Given the description of an element on the screen output the (x, y) to click on. 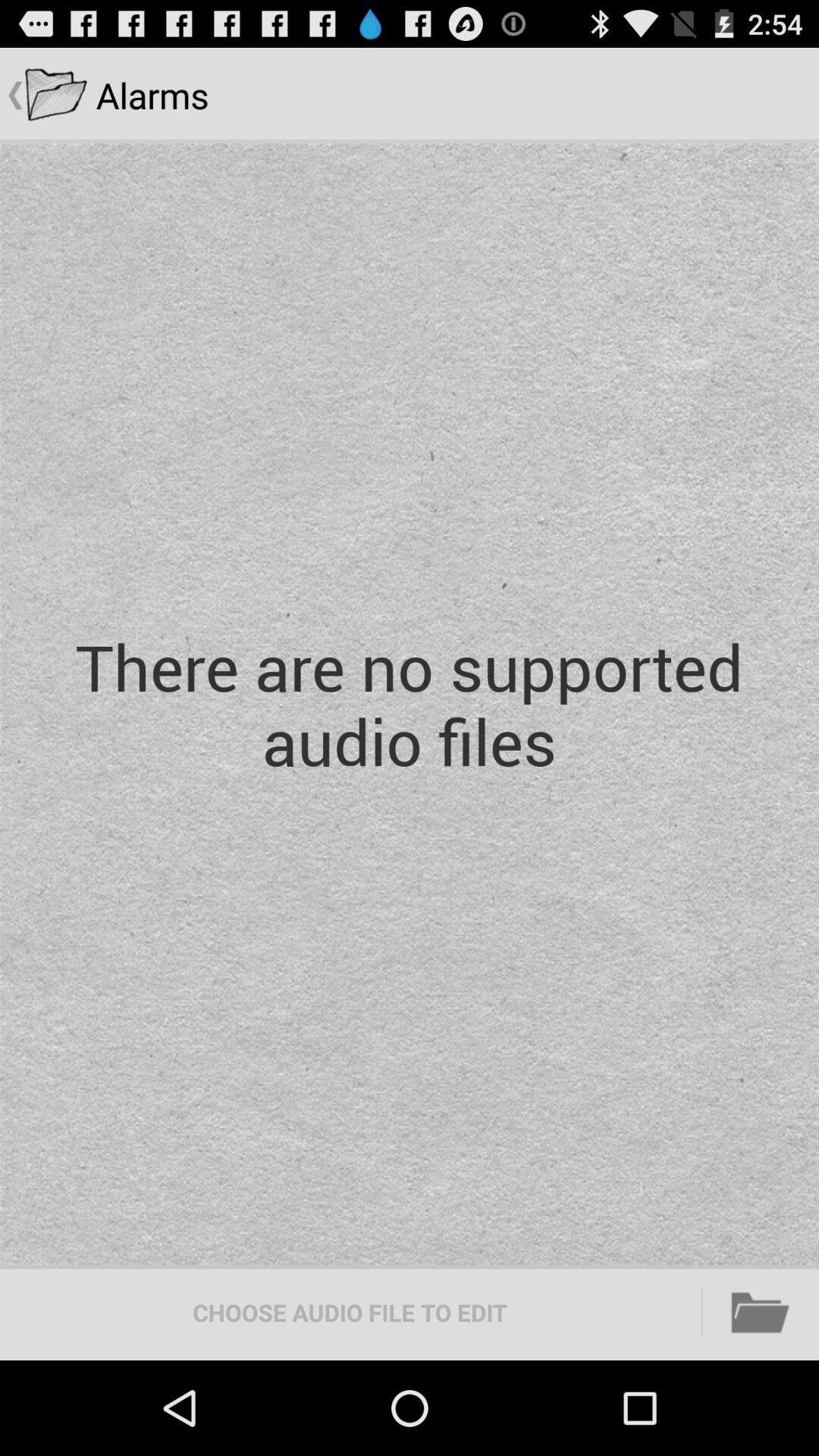
turn on choose audio file (349, 1312)
